Given the description of an element on the screen output the (x, y) to click on. 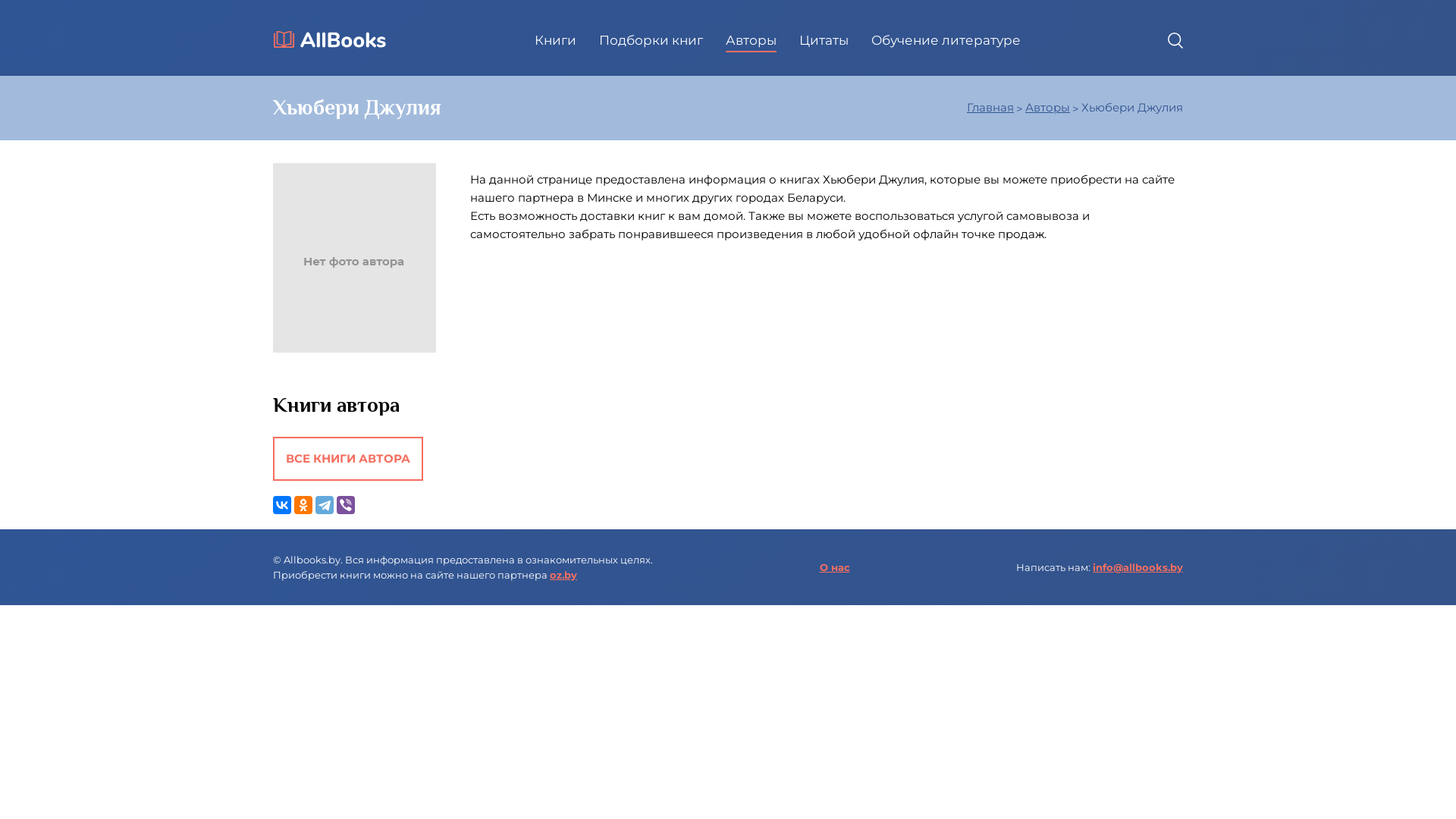
Telegram Element type: hover (324, 504)
oz.by Element type: text (563, 574)
info@allbooks.by Element type: text (1137, 567)
Viber Element type: hover (345, 504)
